Given the description of an element on the screen output the (x, y) to click on. 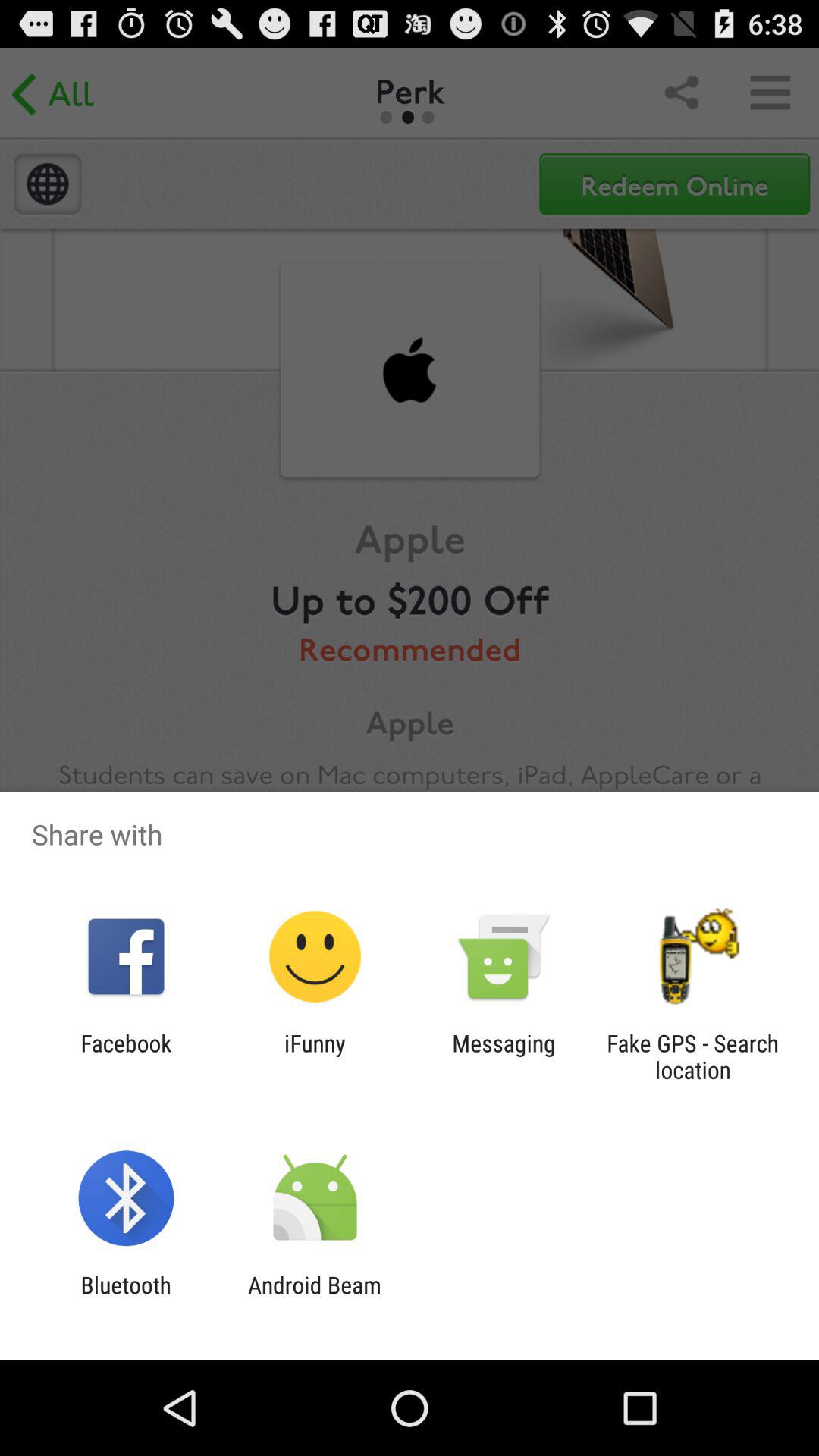
select messaging (503, 1056)
